Given the description of an element on the screen output the (x, y) to click on. 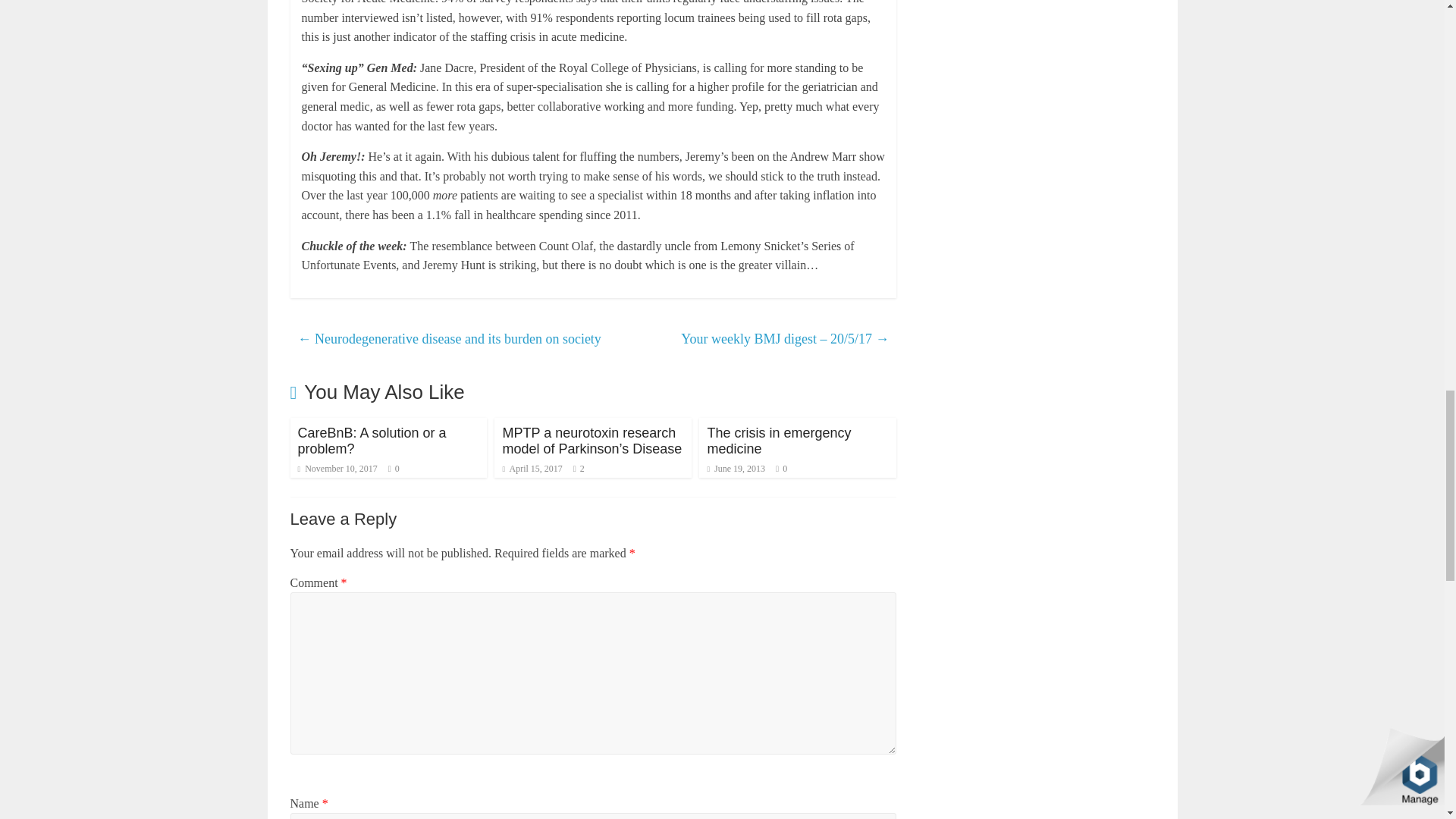
CareBnB: A solution or a problem? (371, 441)
CareBnB: A solution or a problem? (371, 441)
3:56 pm (532, 468)
9:03 am (735, 468)
The crisis in emergency medicine (778, 441)
November 10, 2017 (337, 468)
12:52 pm (337, 468)
